Given the description of an element on the screen output the (x, y) to click on. 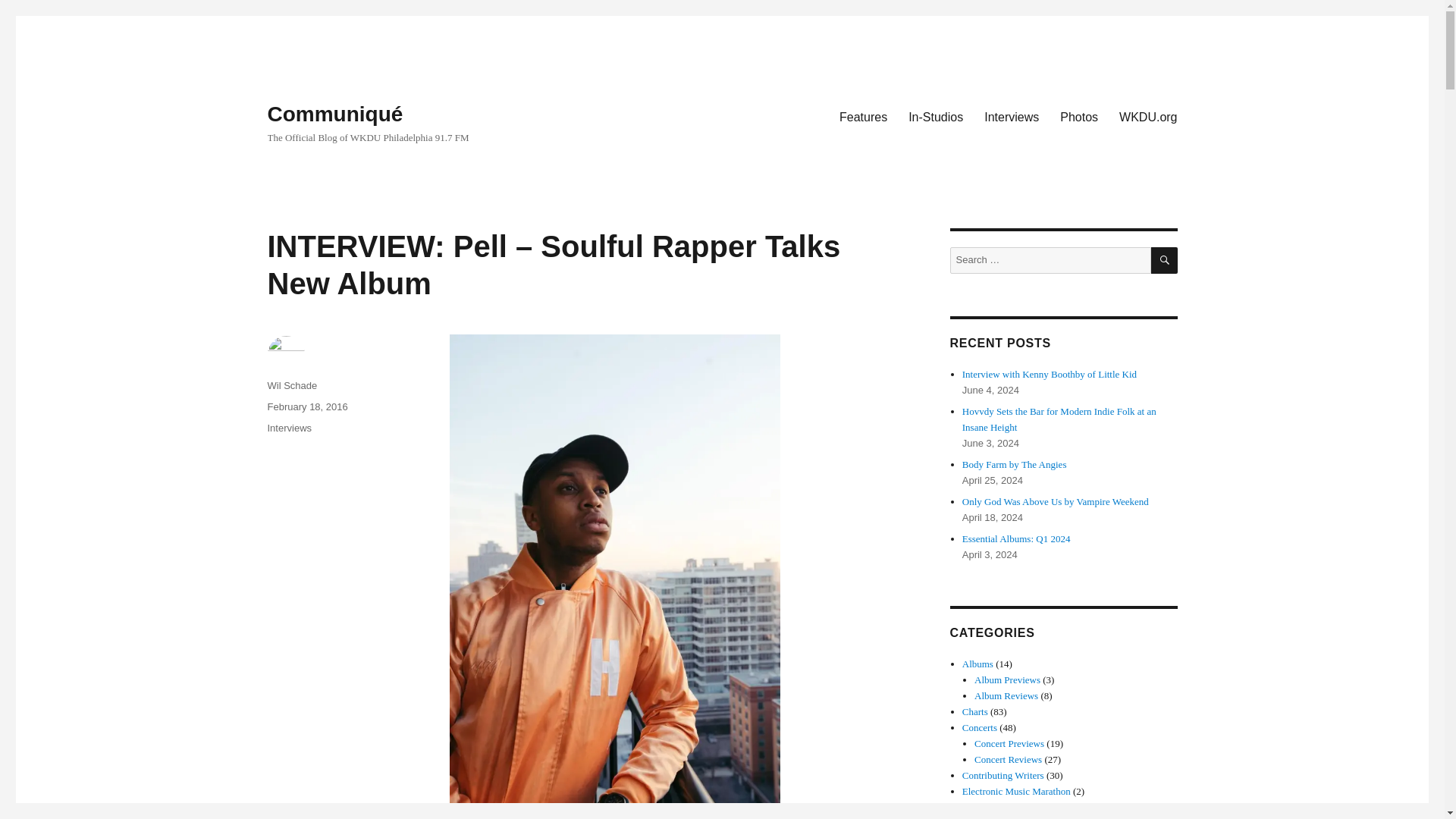
Wil Schade (291, 385)
Essential Albums: Q1 2024 (1016, 538)
Only God Was Above Us by Vampire Weekend (1055, 501)
Interviews (288, 428)
Photos (1078, 116)
Features (978, 807)
Album Reviews (1006, 695)
In-Studios (936, 116)
Charts (975, 711)
SEARCH (1164, 260)
